Given the description of an element on the screen output the (x, y) to click on. 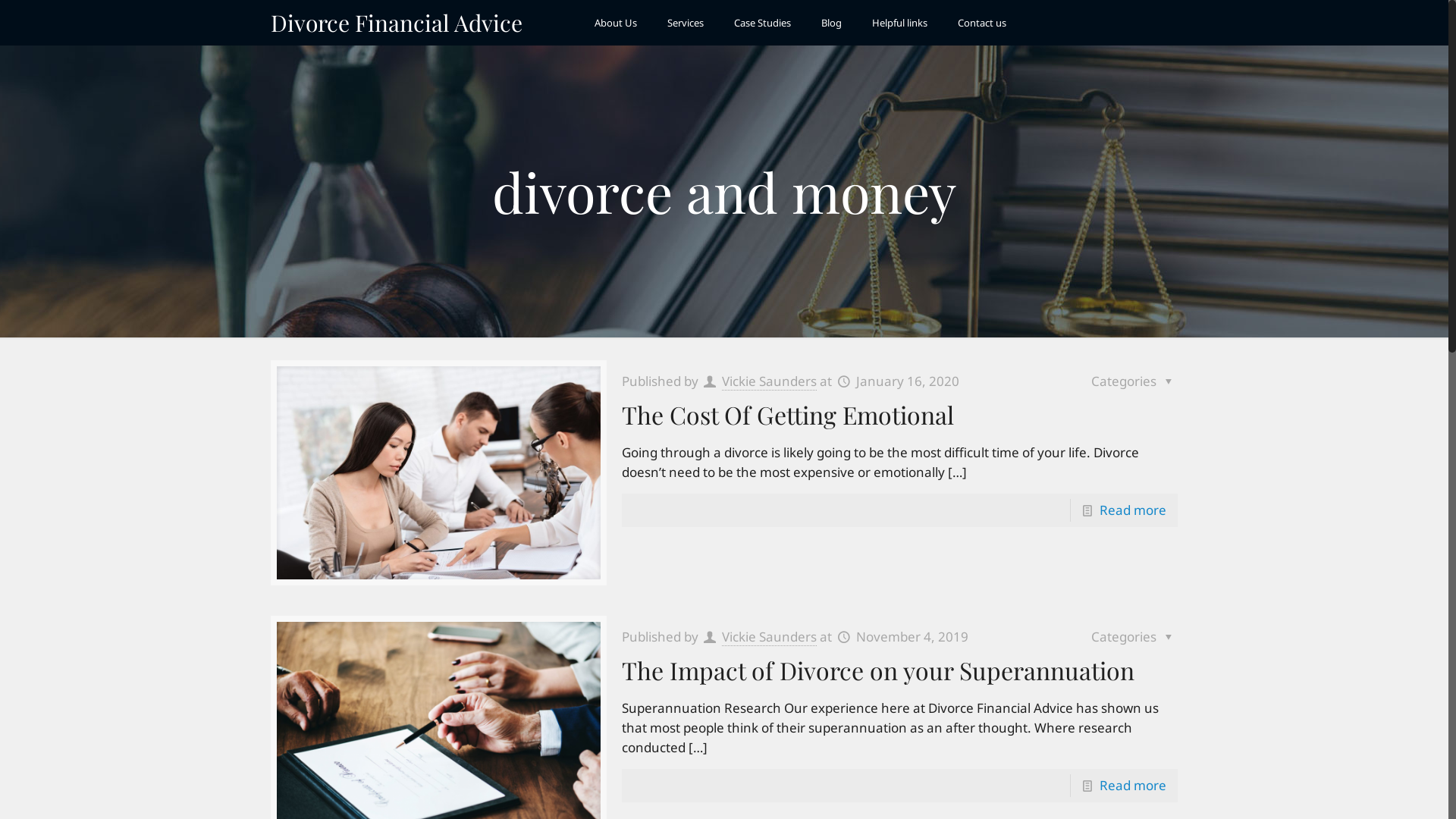
Vickie Saunders Element type: text (768, 381)
Useful Tools Element type: text (788, 626)
Case Studies Element type: text (559, 651)
Child Support Element type: text (793, 576)
Home Element type: text (541, 576)
Helpful links Element type: text (899, 22)
The Cost Of Getting Emotional Element type: text (787, 414)
anthonys@privatewealthpartners.com.au Element type: text (1073, 616)
Government Information Element type: text (821, 601)
Services Element type: text (685, 22)
natalieb@privatewealthpartners.com.au Element type: text (1070, 688)
Contact us Element type: text (981, 22)
Divorce Financial Advice Element type: text (396, 22)
About Us Element type: text (550, 601)
Blog Element type: text (831, 22)
Our Services Element type: text (559, 626)
Read more Element type: text (1132, 784)
Read more Element type: text (1132, 509)
Case Studies Element type: text (762, 22)
Contact Element type: text (546, 676)
The Impact of Divorce on your Superannuation Element type: text (877, 669)
About Us Element type: text (615, 22)
Vickie Saunders Element type: text (768, 636)
